Given the description of an element on the screen output the (x, y) to click on. 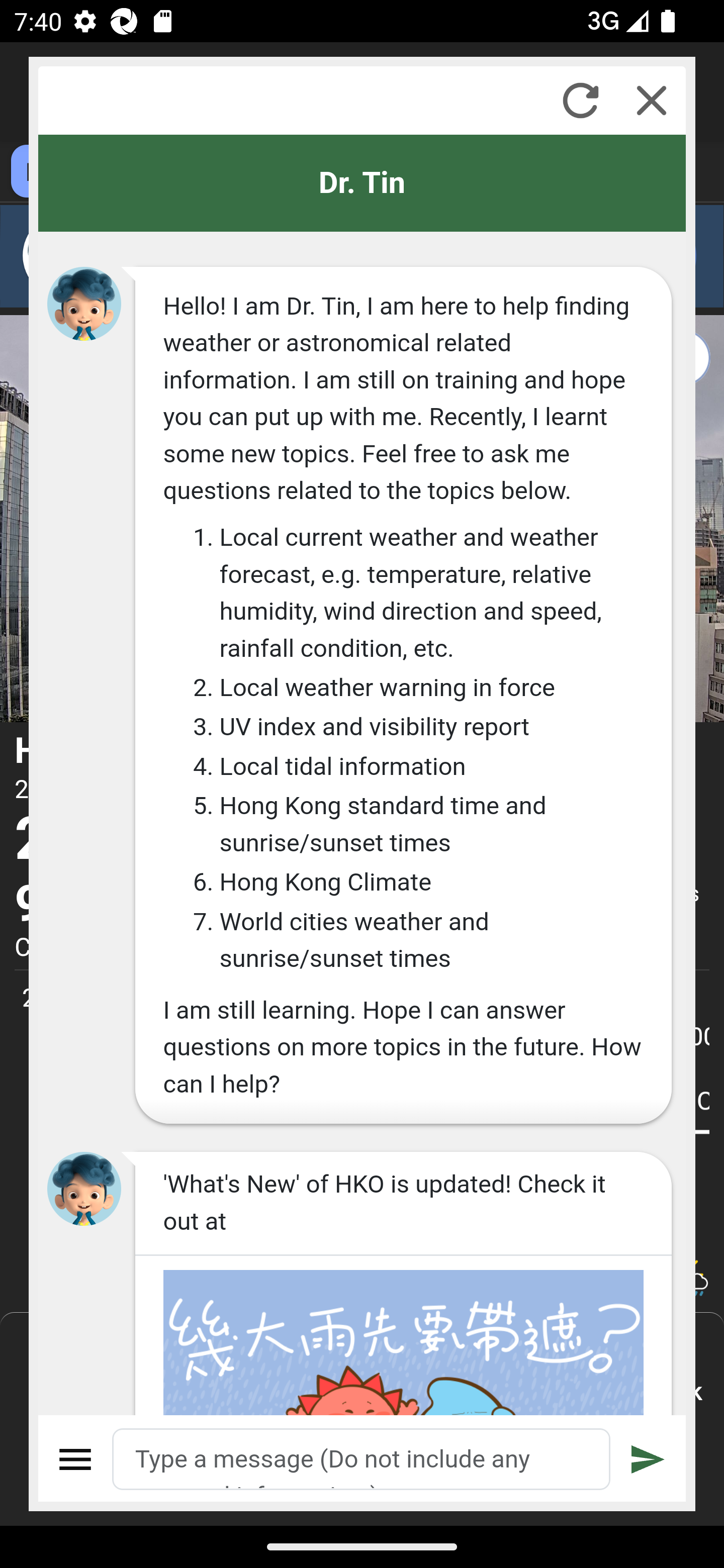
Refresh (580, 100)
Close (651, 100)
Menu (75, 1458)
Submit (648, 1458)
